Given the description of an element on the screen output the (x, y) to click on. 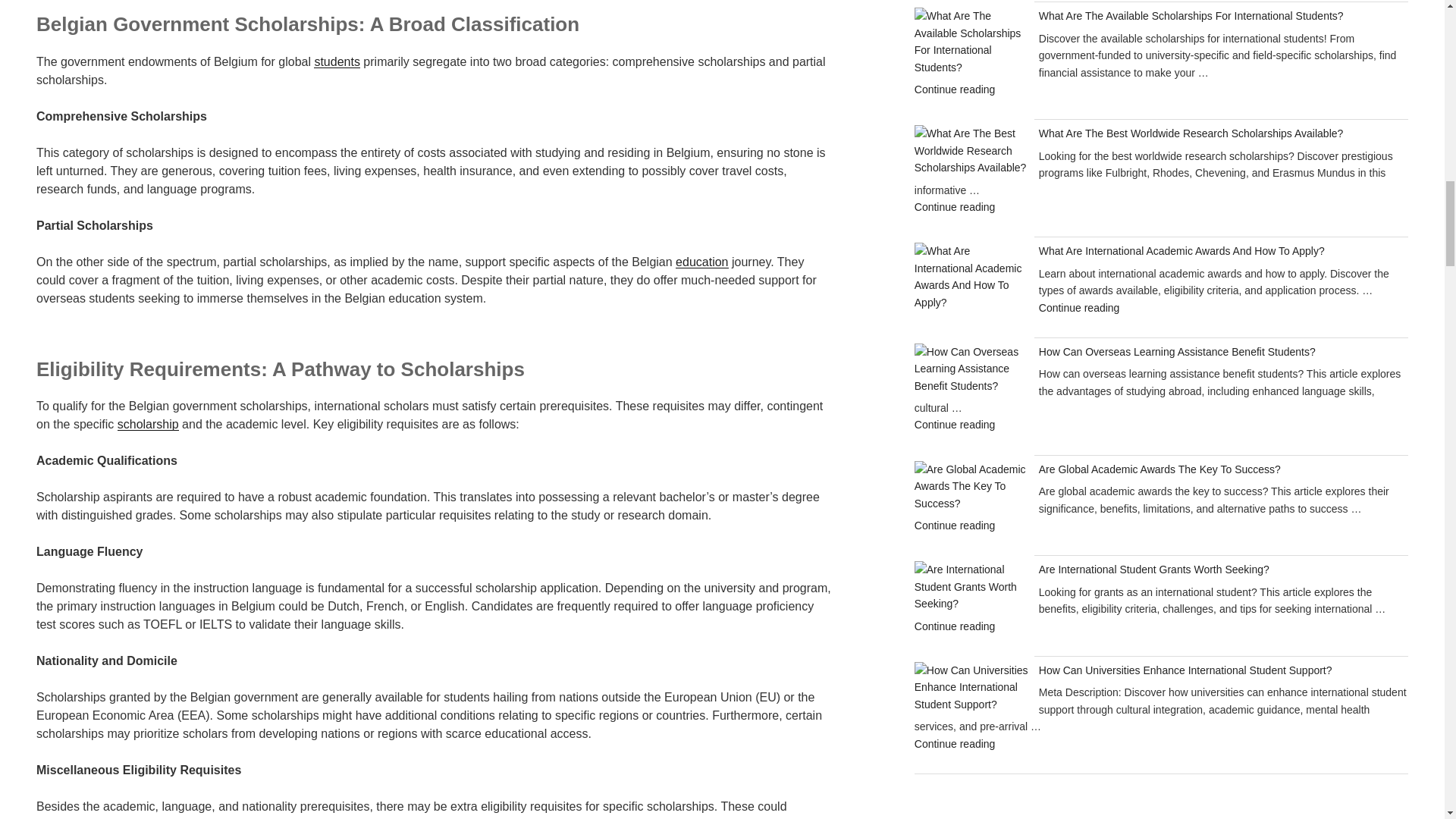
education (701, 261)
scholarship (148, 423)
students (336, 61)
